Given the description of an element on the screen output the (x, y) to click on. 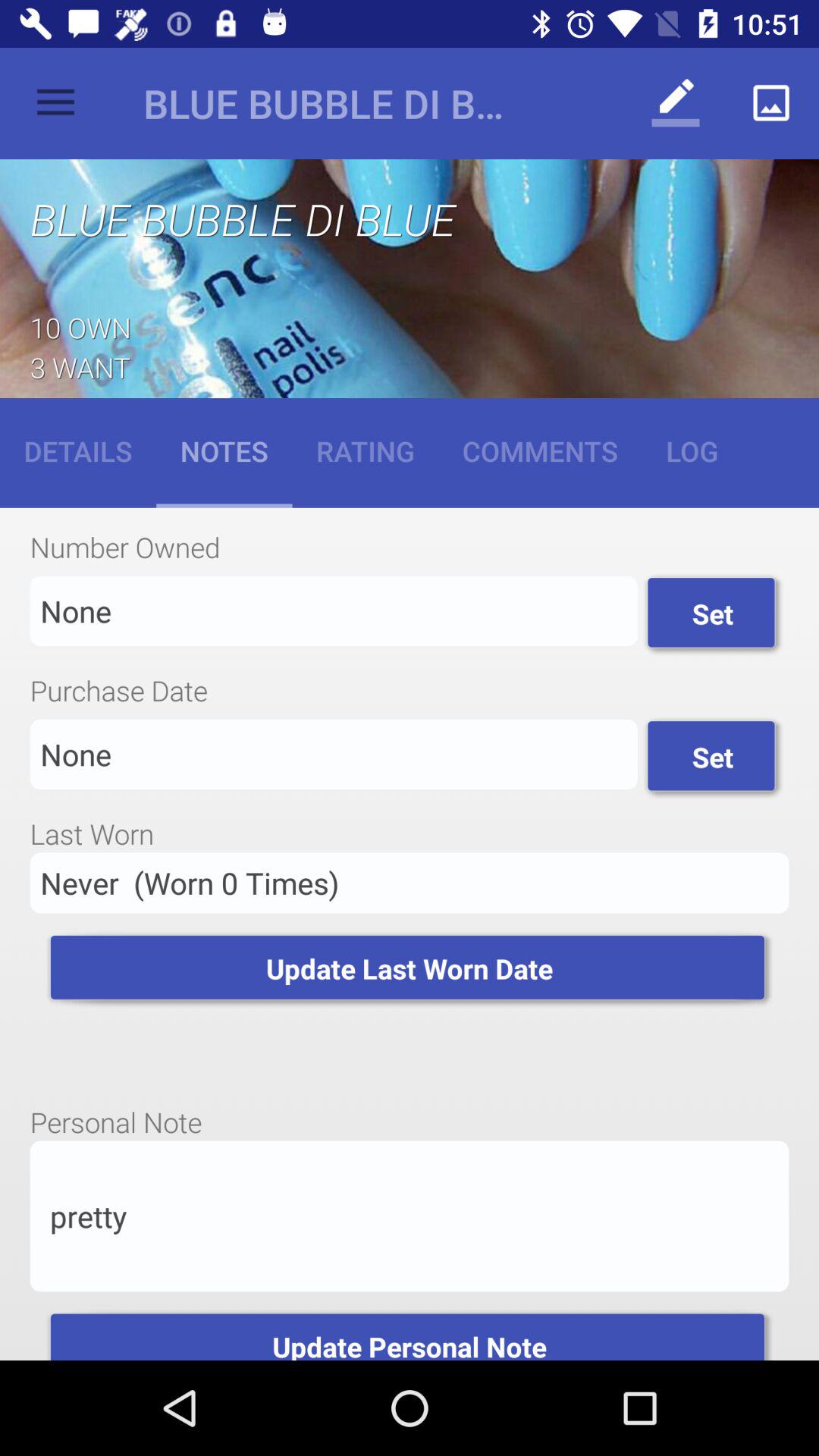
scroll until the comments icon (540, 450)
